Given the description of an element on the screen output the (x, y) to click on. 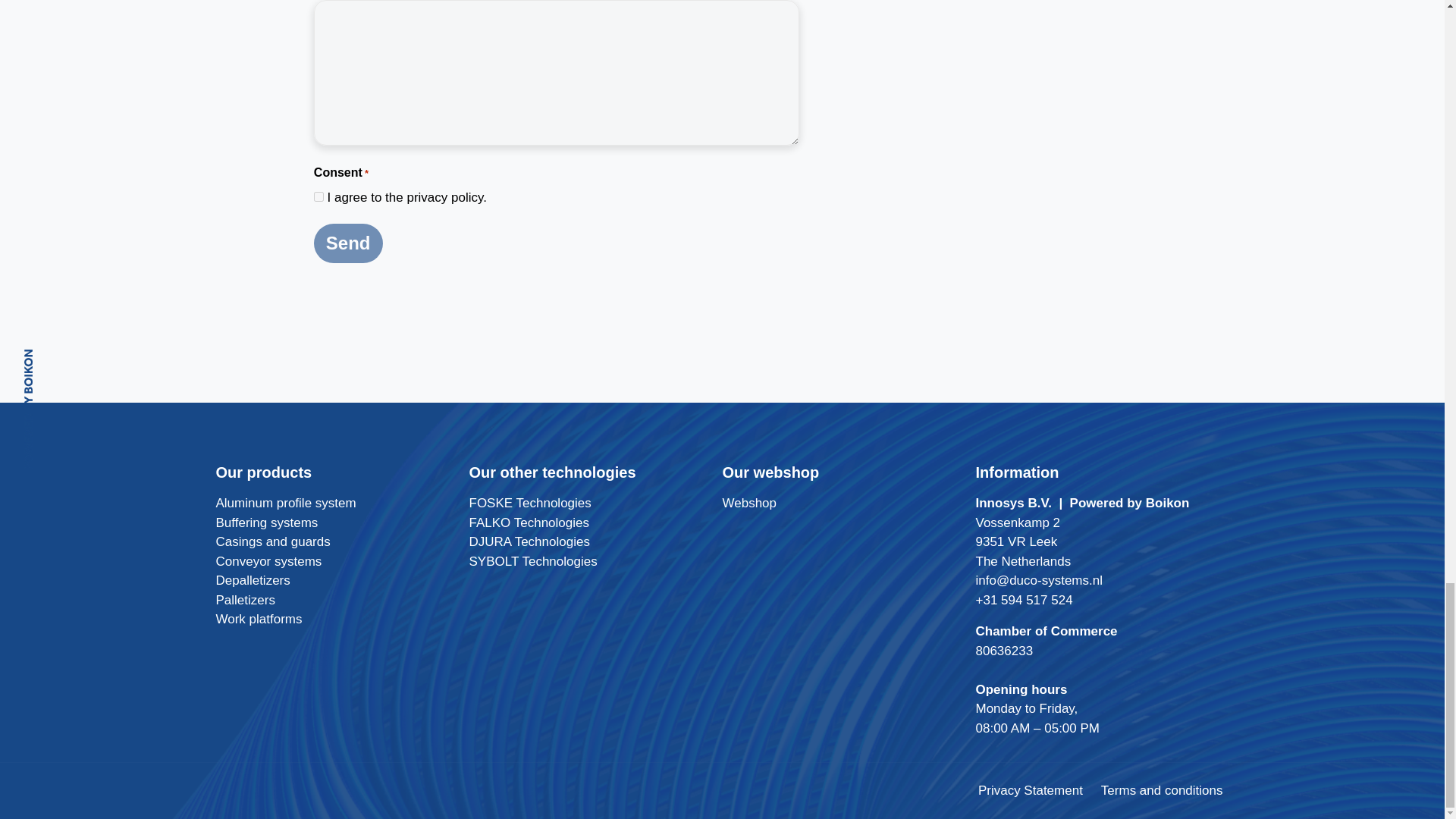
SYBOLT Technologies (532, 561)
Buffering systems (266, 522)
FOSKE Technologies (529, 503)
FALKO Technologies (528, 522)
DJURA Technologies (528, 541)
Send (348, 242)
Work platforms (258, 618)
Webshop (749, 503)
Send (348, 242)
Conveyor systems (268, 561)
